Given the description of an element on the screen output the (x, y) to click on. 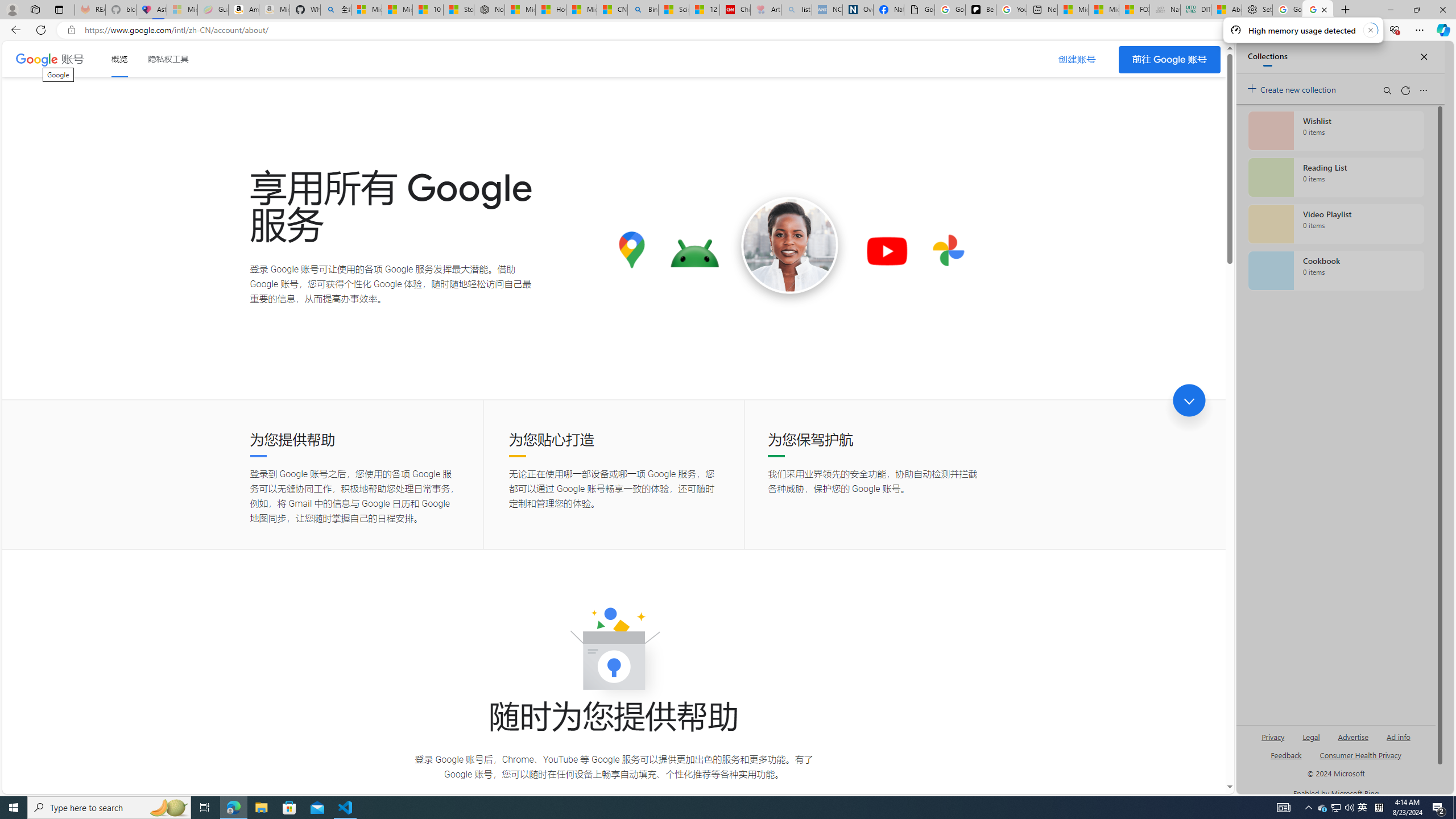
FOX News - MSN (1133, 9)
AutomationID: genId96 (1285, 759)
